Given the description of an element on the screen output the (x, y) to click on. 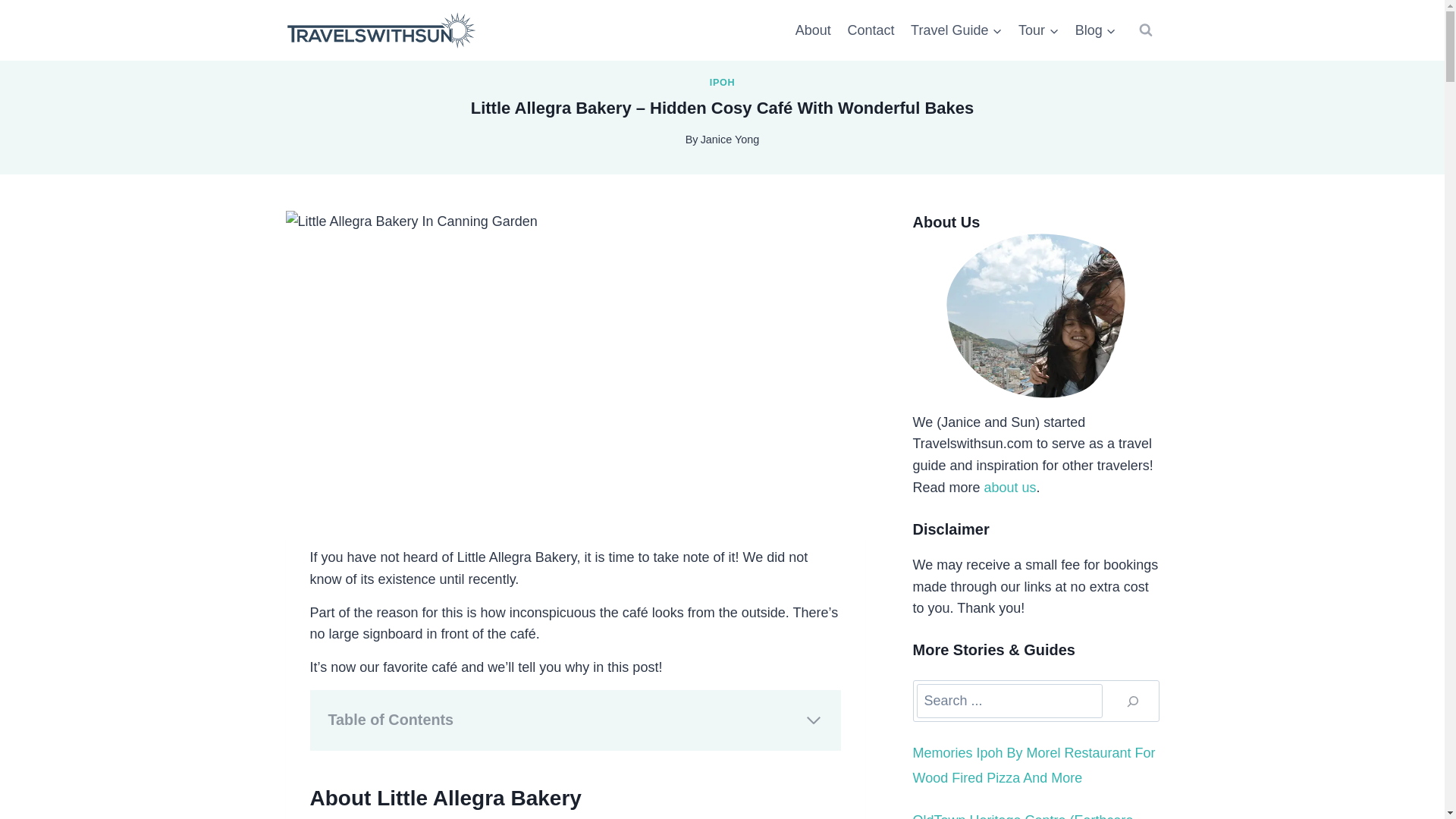
Table of Contents (574, 720)
Janice Yong (730, 139)
Contact (871, 30)
Tour (1038, 30)
IPOH (722, 81)
Blog (1095, 30)
Travel Guide (956, 30)
About (813, 30)
